Given the description of an element on the screen output the (x, y) to click on. 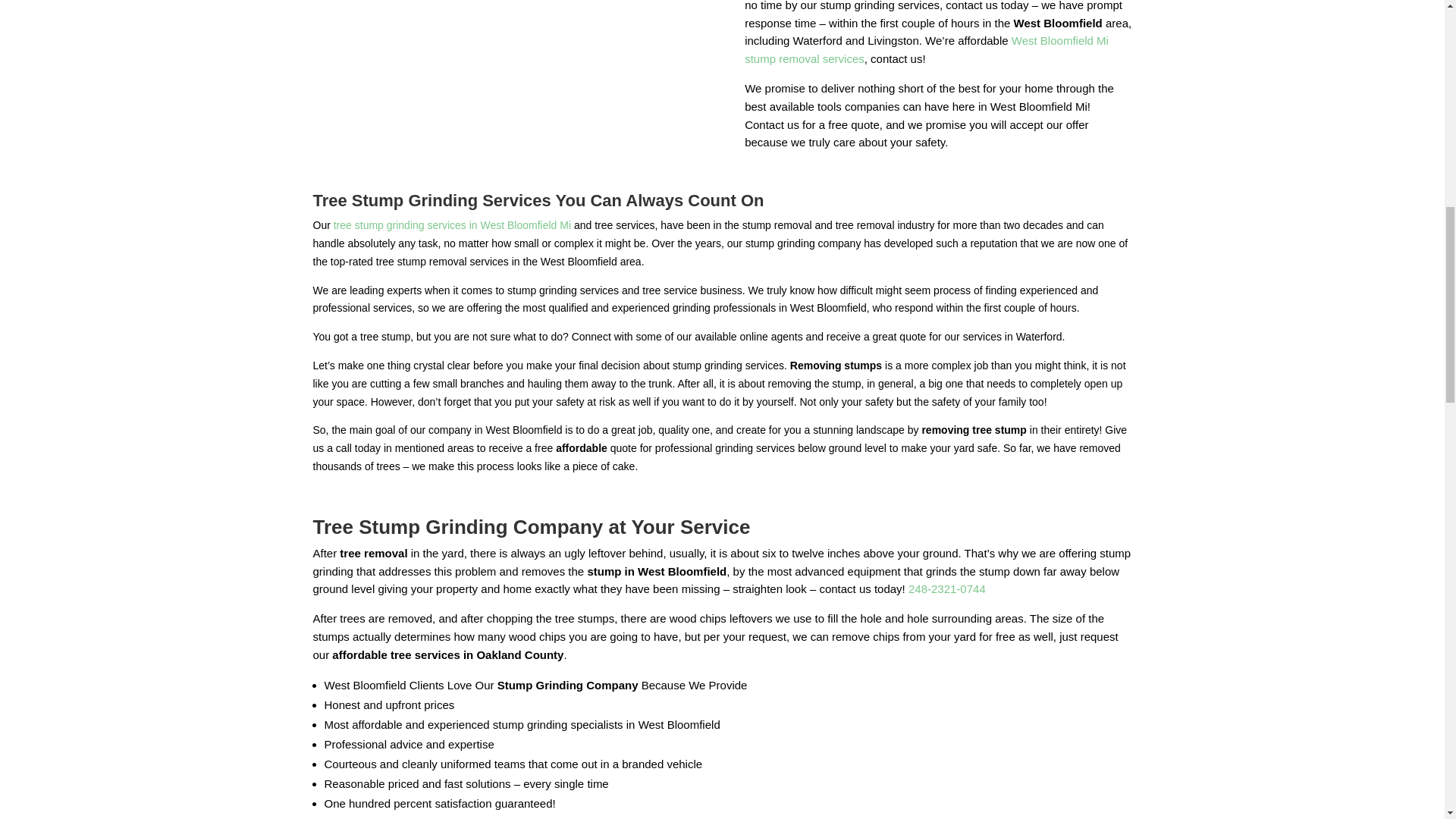
West Bloomfield Mi stump removal services (926, 49)
tree stump grinding services in West Bloomfield Mi (450, 224)
248-2321-0744 (946, 588)
